Given the description of an element on the screen output the (x, y) to click on. 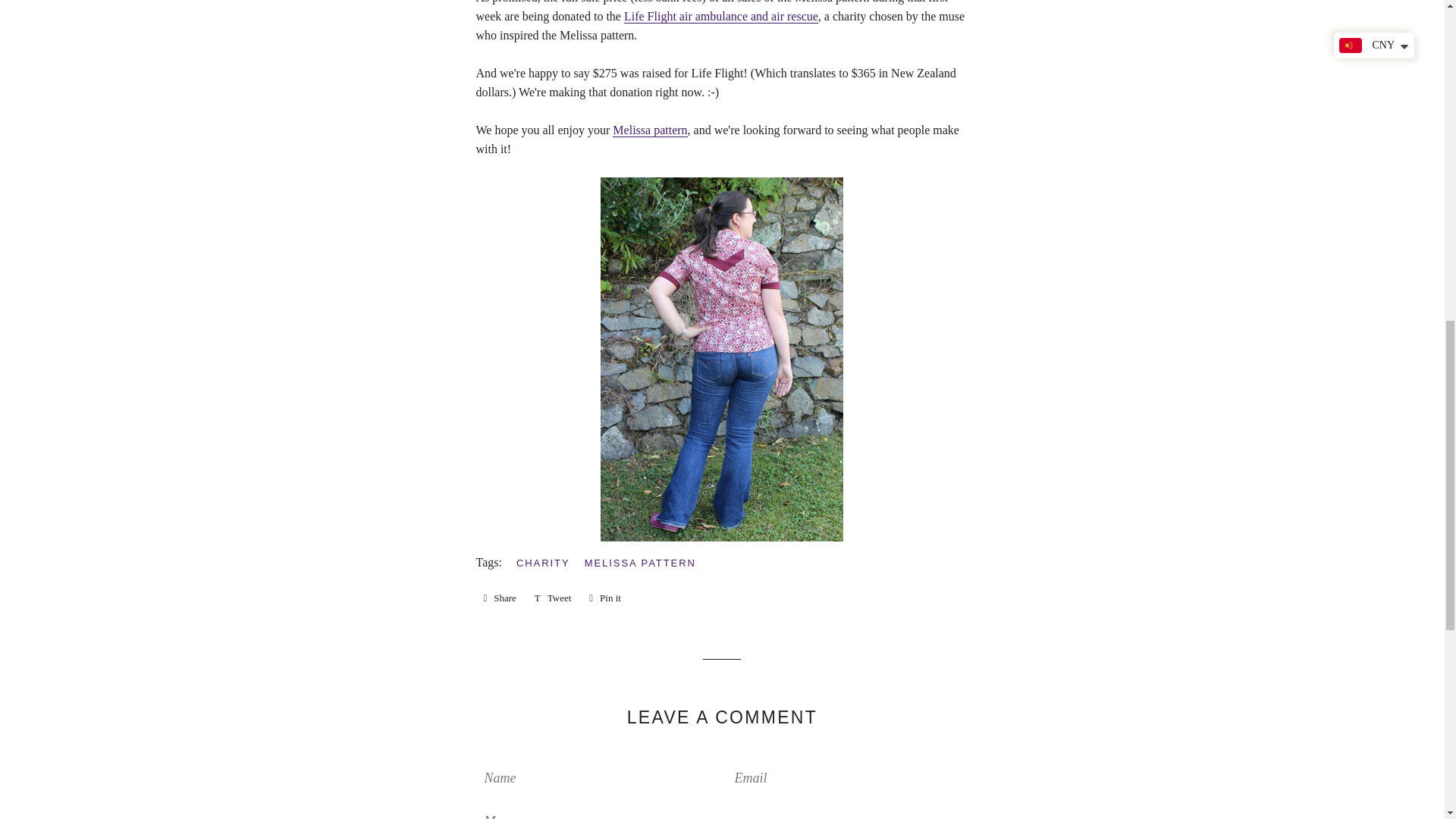
Life Flight air ambulance and air rescue (721, 16)
Tweet on Twitter (553, 598)
Share on Facebook (499, 598)
Melissa pattern (604, 598)
CHARITY (553, 598)
MELISSA PATTERN (499, 598)
Pin on Pinterest (649, 130)
